Given the description of an element on the screen output the (x, y) to click on. 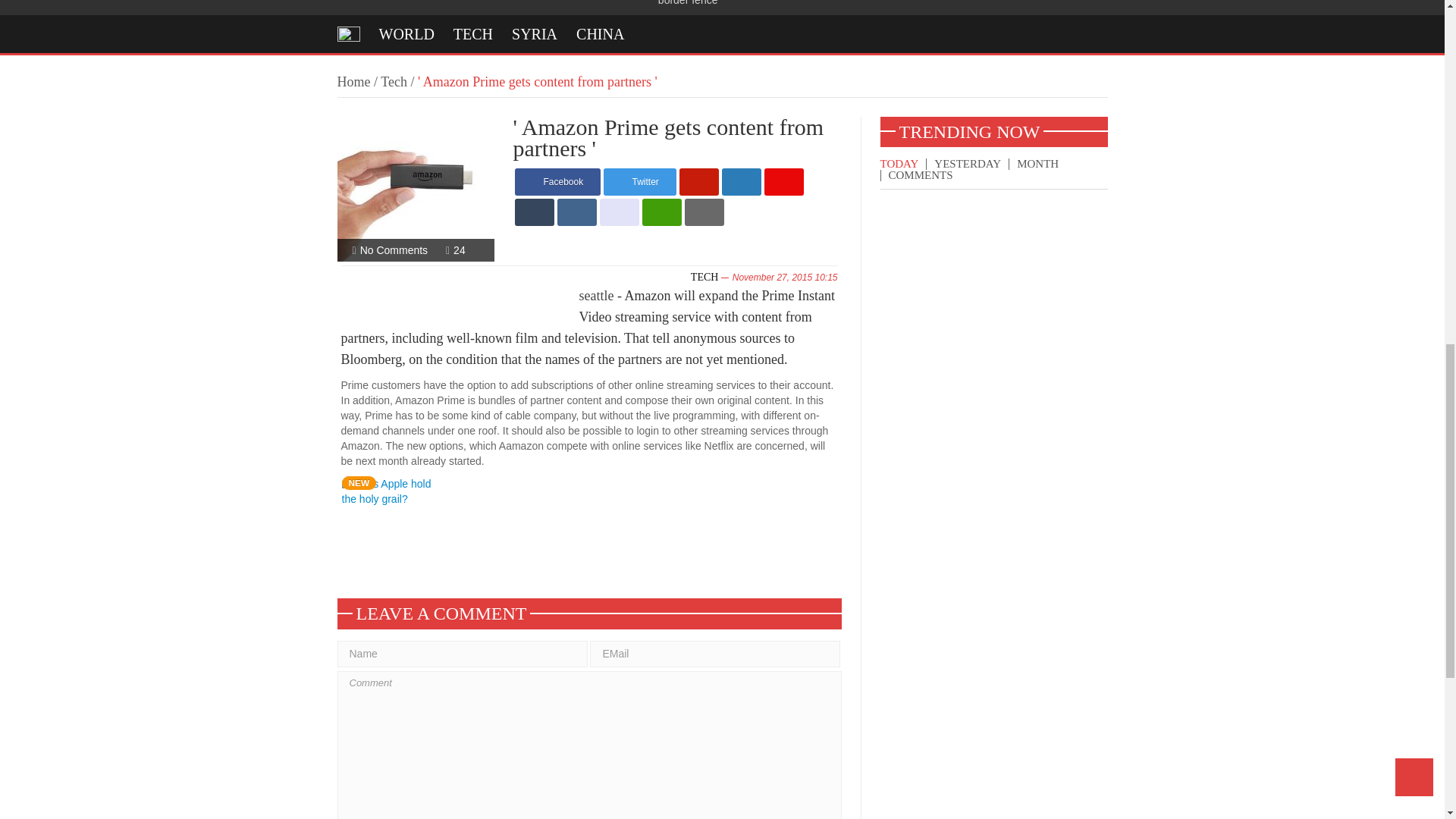
Home (352, 81)
WORLD (405, 33)
SYRIA (534, 33)
Comment on ' Amazon Prime gets content from partners ' (393, 250)
Tech (393, 81)
seattle (596, 295)
TECH (472, 33)
NEW (389, 490)
CHINA (600, 33)
TECH (704, 276)
